Given the description of an element on the screen output the (x, y) to click on. 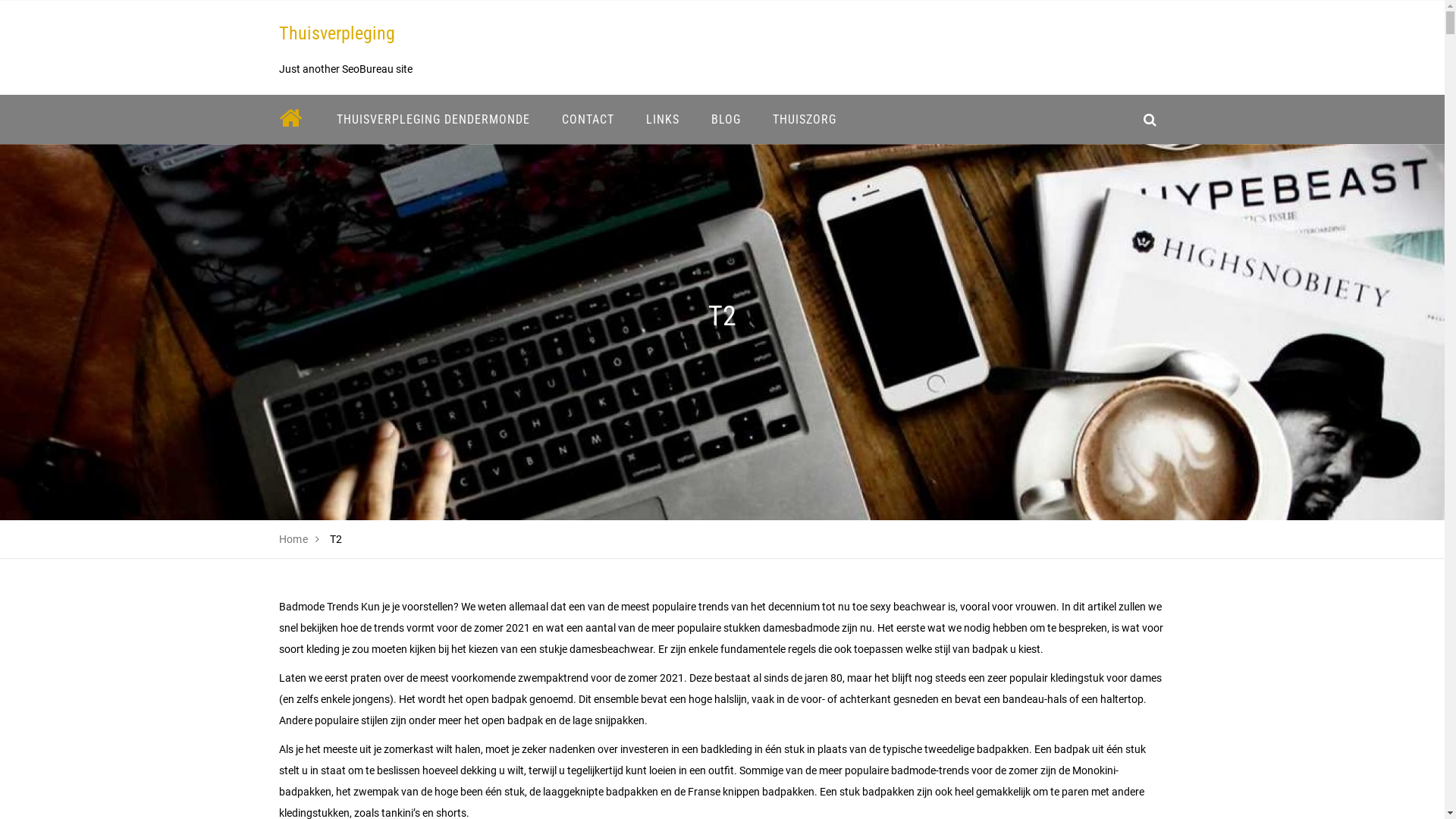
CONTACT Element type: text (588, 119)
search_icon Element type: hover (1148, 119)
BLOG Element type: text (724, 119)
LINKS Element type: text (661, 119)
THUISZORG Element type: text (804, 119)
Home Element type: text (293, 539)
THUISVERPLEGING DENDERMONDE Element type: text (432, 119)
Thuisverpleging Element type: text (337, 32)
